Given the description of an element on the screen output the (x, y) to click on. 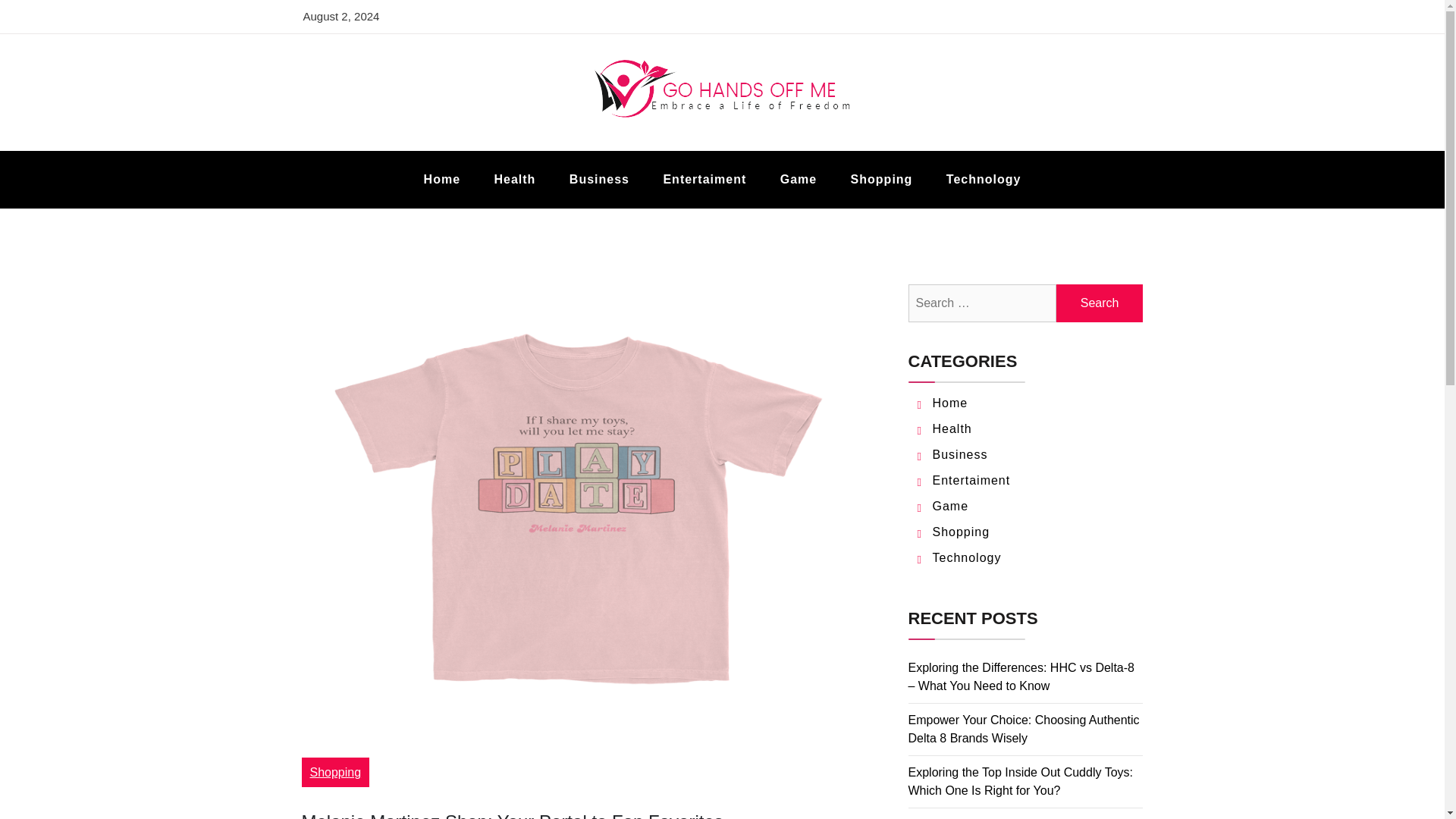
Health (952, 428)
Technology (967, 557)
Game (798, 179)
Shopping (961, 531)
Home (950, 402)
Go Hands Off Me (437, 149)
Entertaiment (971, 480)
Business (960, 454)
Health (514, 179)
Shopping (335, 772)
Search (1099, 303)
Search (1099, 303)
Shopping (881, 179)
